Given the description of an element on the screen output the (x, y) to click on. 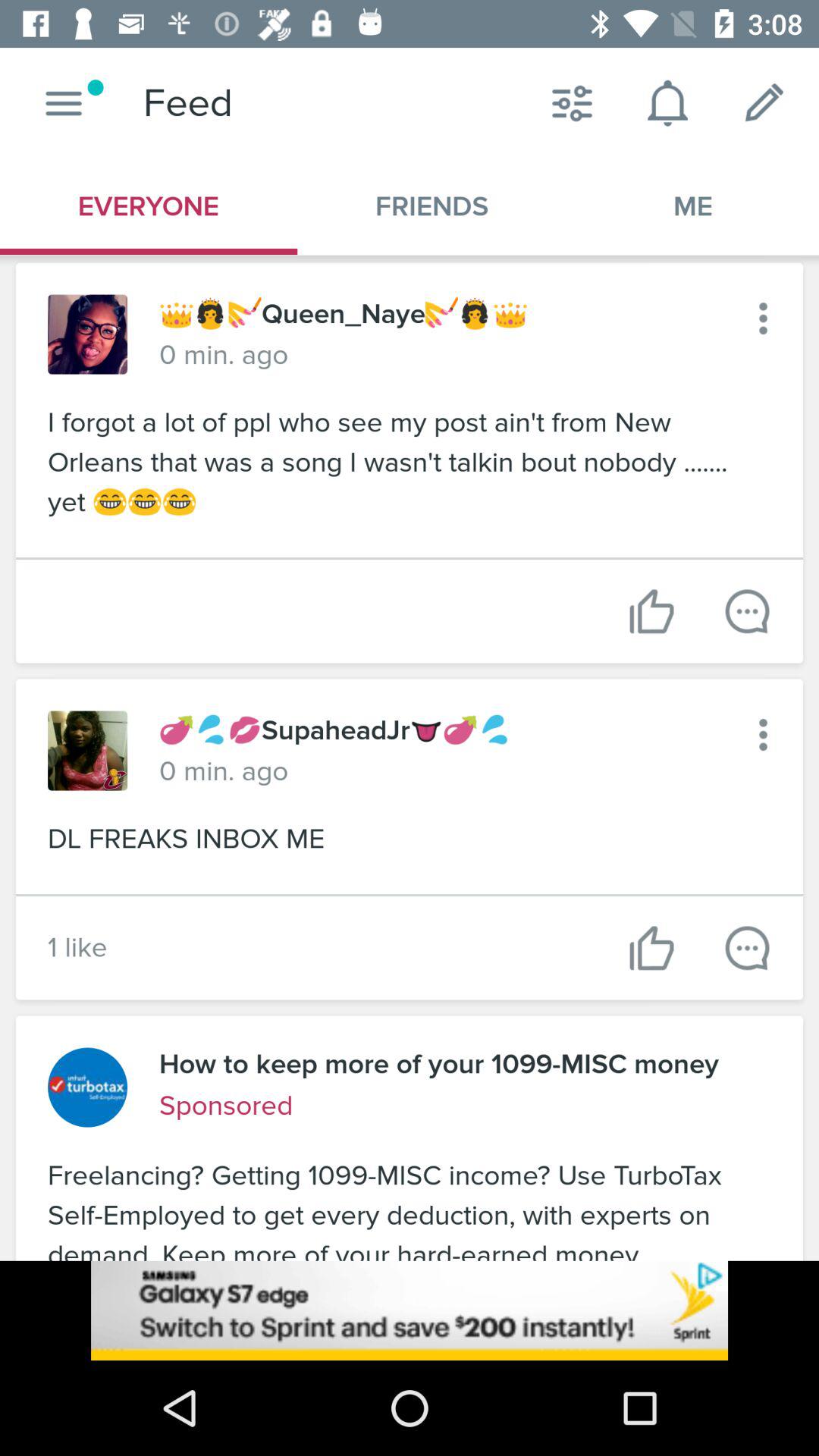
go to menu (63, 103)
